Given the description of an element on the screen output the (x, y) to click on. 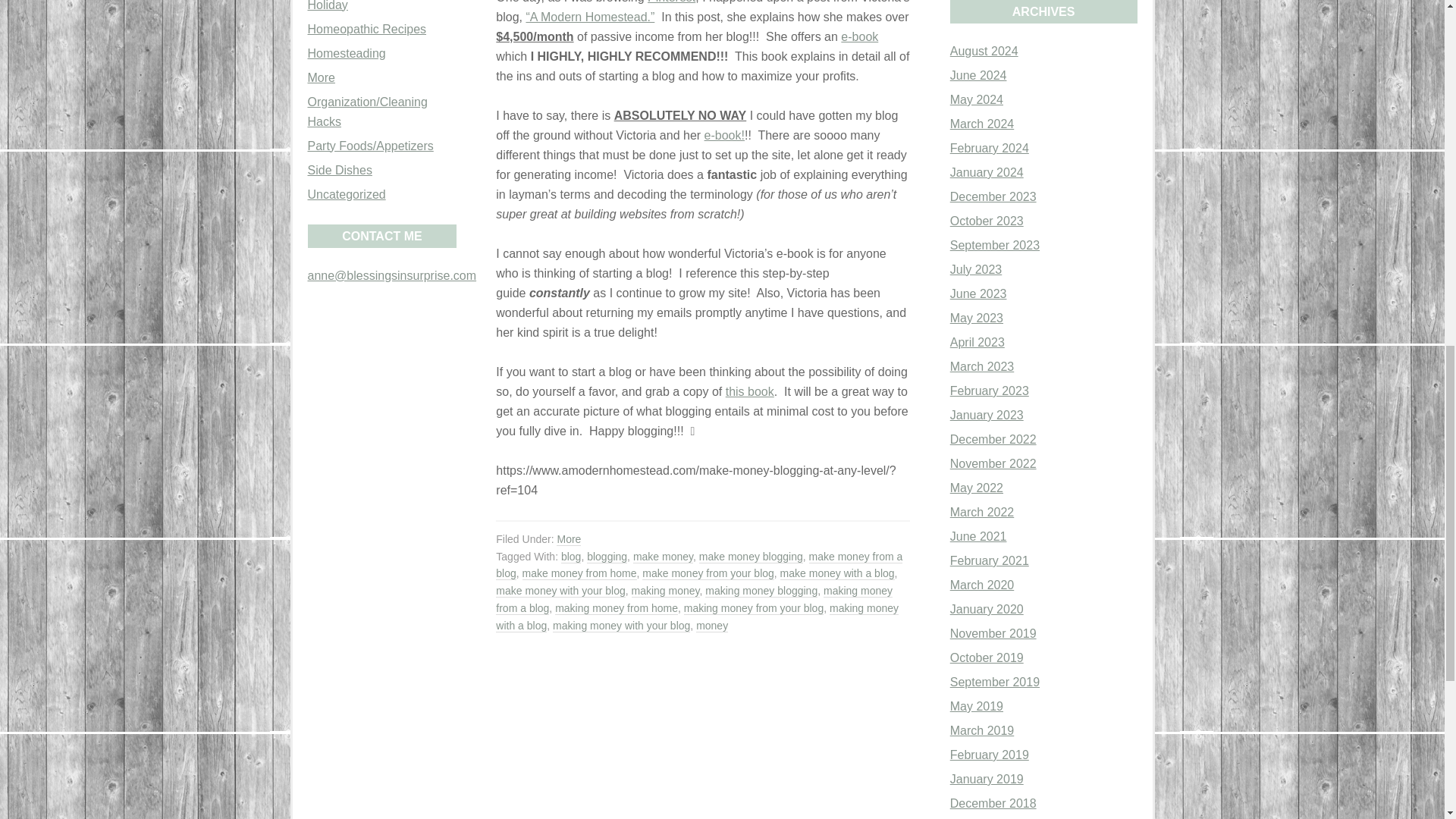
make money from home (579, 573)
Pinterest (671, 2)
making money with a blog (697, 616)
making money from home (616, 608)
making money from your blog (754, 608)
make money with a blog (837, 573)
e-book (859, 36)
making money with your blog (621, 625)
e-book! (724, 134)
blogging (606, 556)
